Given the description of an element on the screen output the (x, y) to click on. 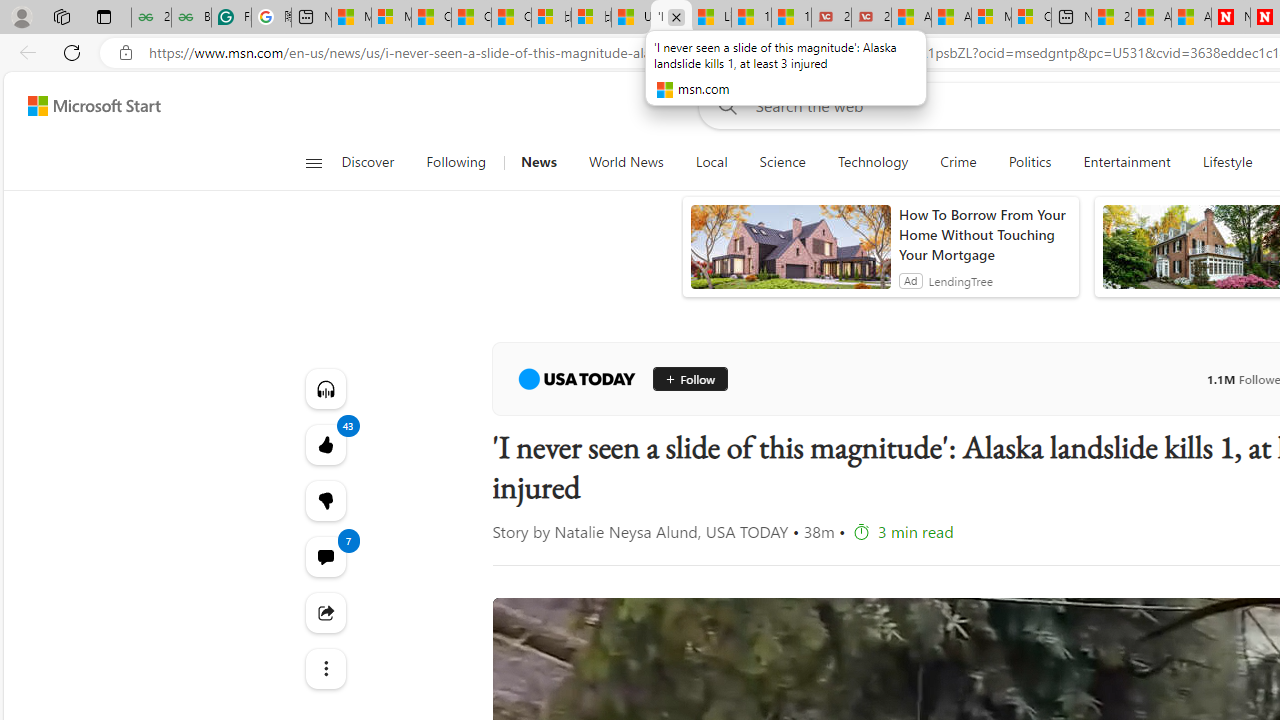
USA TODAY (576, 378)
USA TODAY - MSN (631, 17)
